Given the description of an element on the screen output the (x, y) to click on. 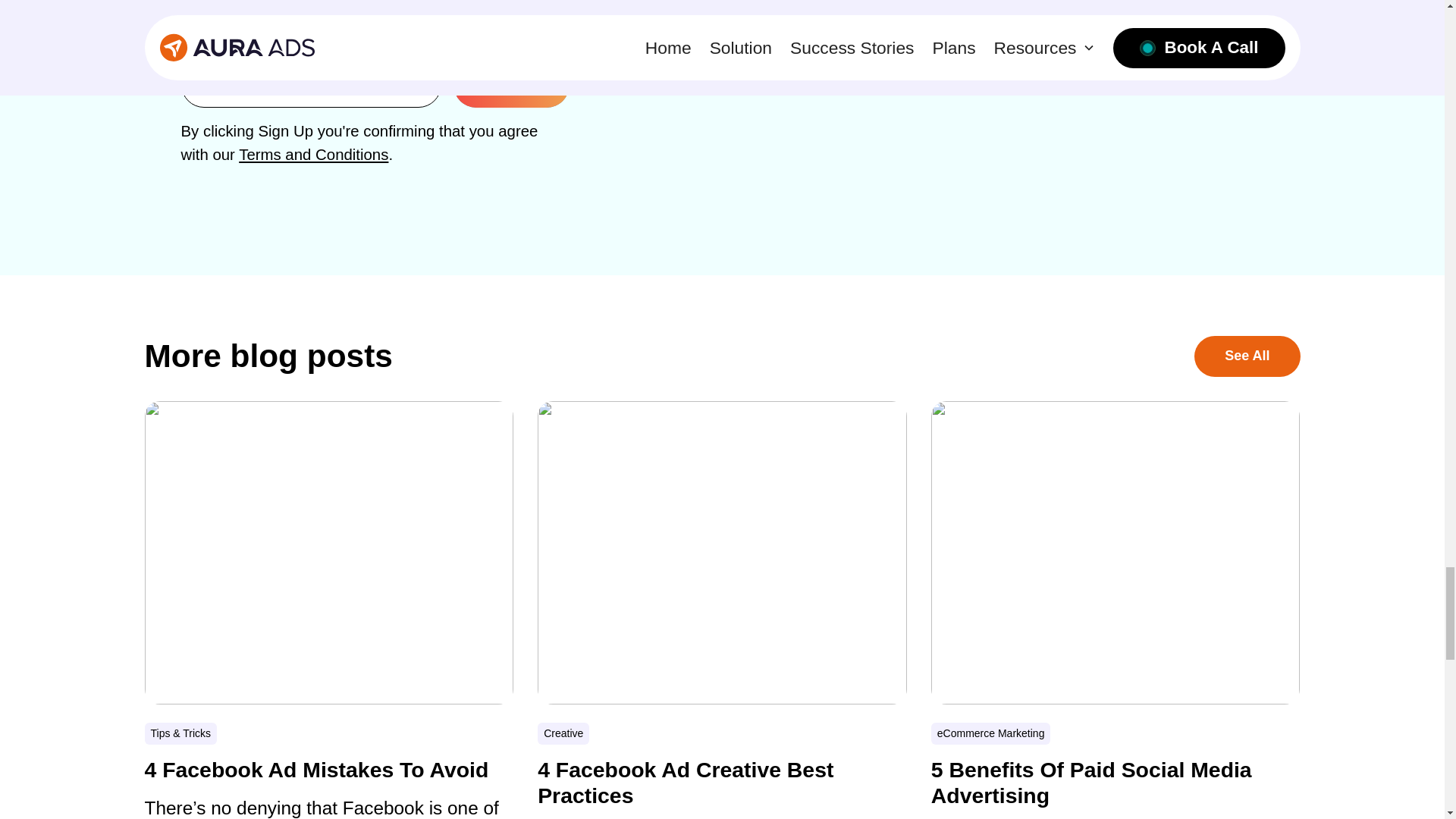
Sign up (510, 84)
